Given the description of an element on the screen output the (x, y) to click on. 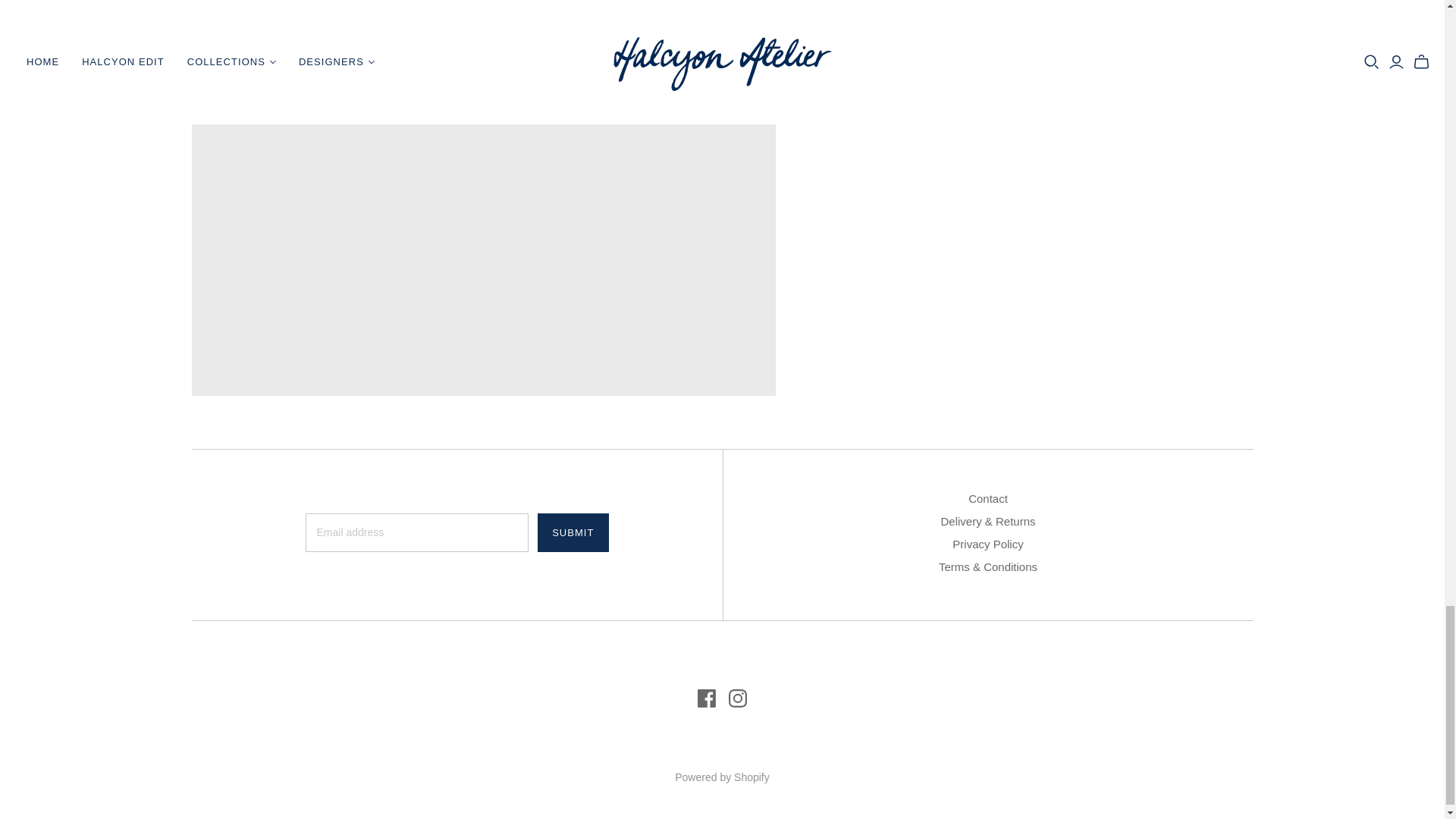
Instagram Icon (737, 698)
Submit (572, 532)
Facebook Icon (706, 698)
